Given the description of an element on the screen output the (x, y) to click on. 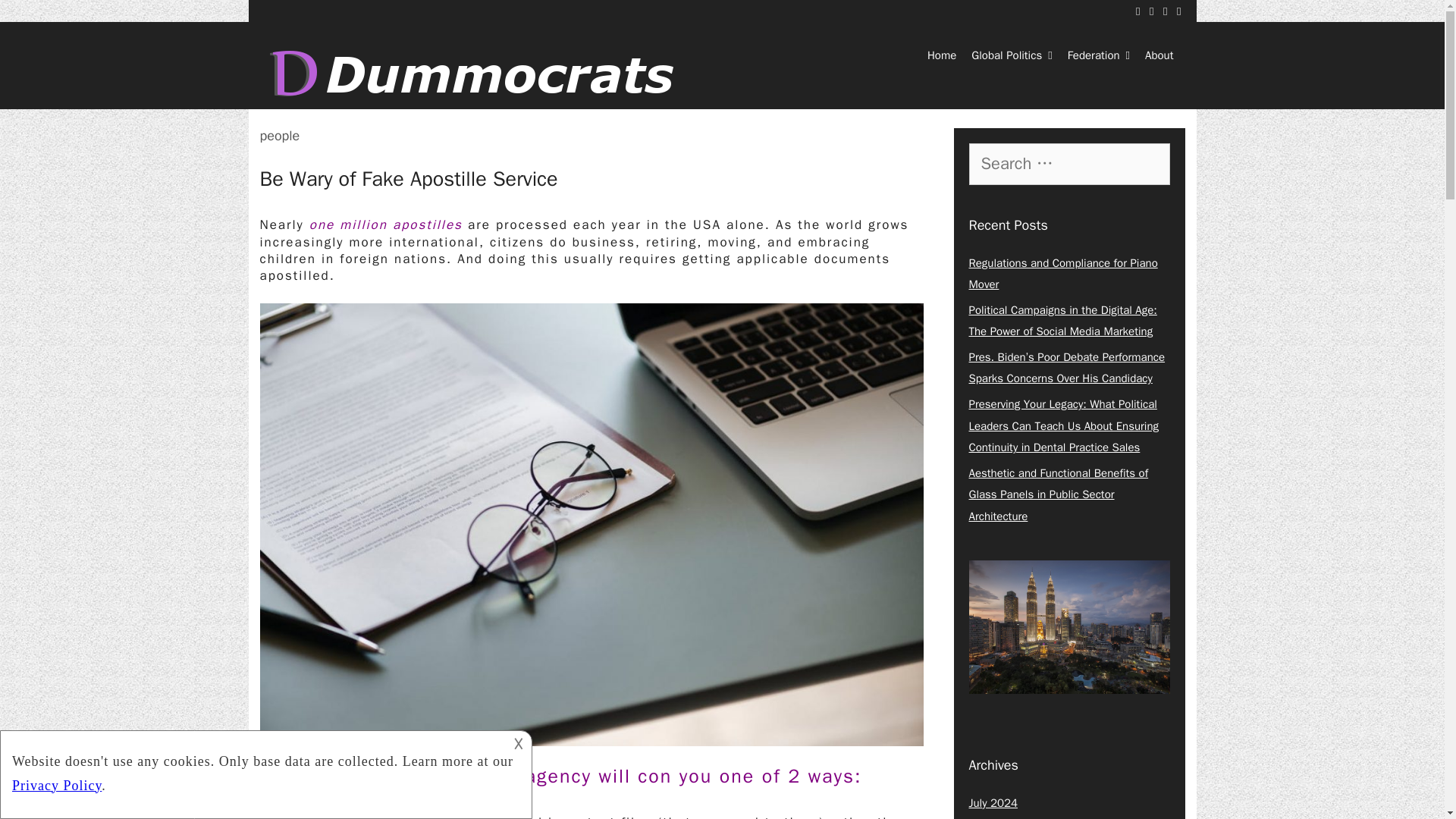
Search (37, 19)
Dummocrats (477, 72)
Home (941, 54)
Federation (1098, 54)
Dummocrats (477, 72)
Be Wary of Fake Apostille Service (408, 178)
Regulations and Compliance for Piano Mover (1063, 273)
description (264, 772)
Search for: (1069, 163)
Global Politics (1011, 54)
July 2024 (993, 802)
